Given the description of an element on the screen output the (x, y) to click on. 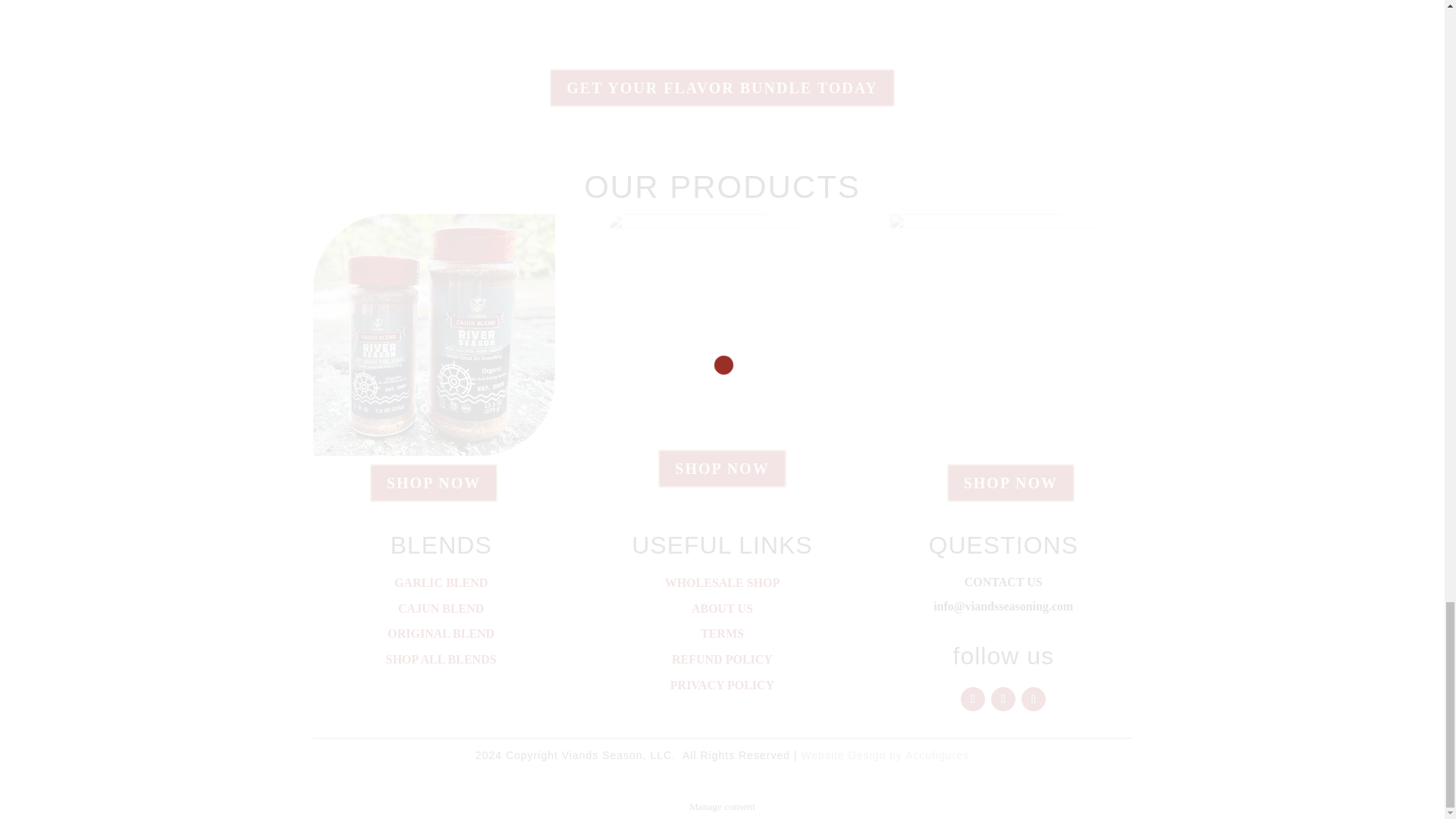
GET YOUR FLAVOR BUNDLE TODAY (722, 87)
Follow on Facebook (972, 699)
Follow on Instagram (1002, 699)
0822 Product Images-7oz Bundle (1010, 334)
SHOP NOW (433, 483)
0822 Product Images-Cajun Both Sizes (433, 334)
0822 Product Images-13oz Bundle (721, 327)
Follow on Pinterest (1033, 699)
